Given the description of an element on the screen output the (x, y) to click on. 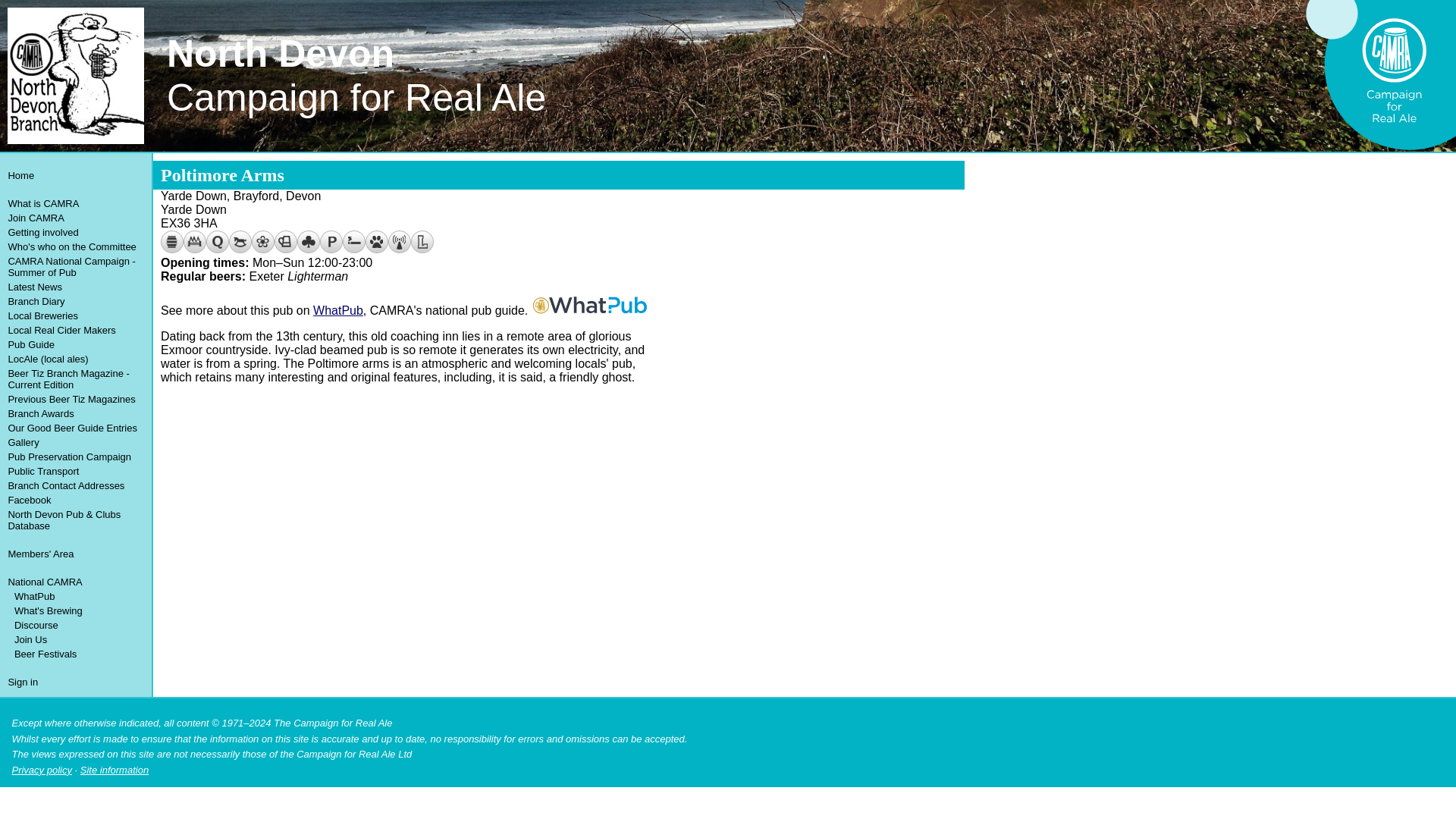
Branch Contact Addresses (74, 485)
Pub Preservation Campaign (74, 456)
Go to the front page of the site (74, 175)
What's Brewing (75, 610)
Join CAMRA (74, 217)
Discourse (75, 625)
WhatPub (75, 595)
Previous Beer Tiz Magazines (74, 399)
Local Real Cider Makers (74, 329)
Members' Area (74, 554)
Facebook (74, 499)
Getting involved (74, 232)
Privacy policy (41, 769)
Beer Tiz Branch Magazine - Current Edition (74, 379)
Local Breweries (74, 315)
